Given the description of an element on the screen output the (x, y) to click on. 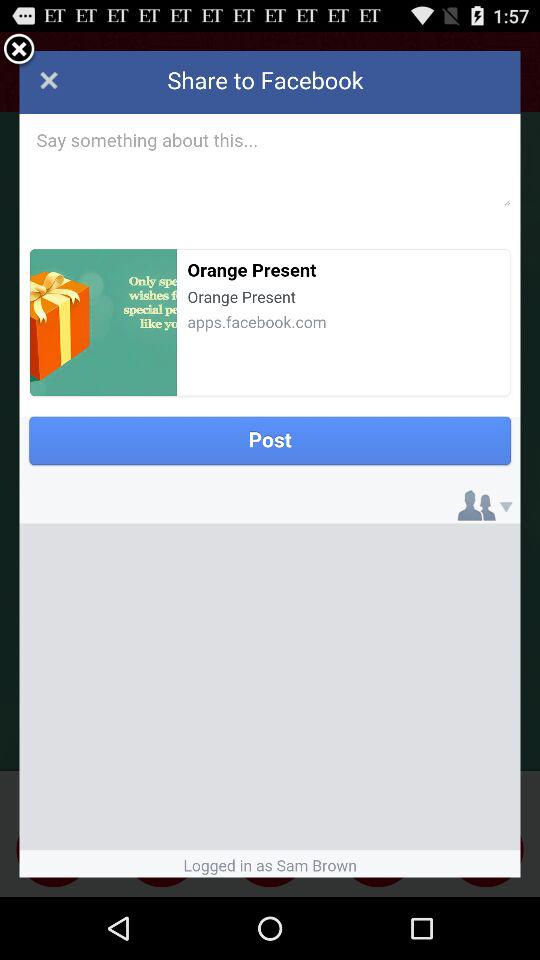
press icon at the top left corner (19, 50)
